Given the description of an element on the screen output the (x, y) to click on. 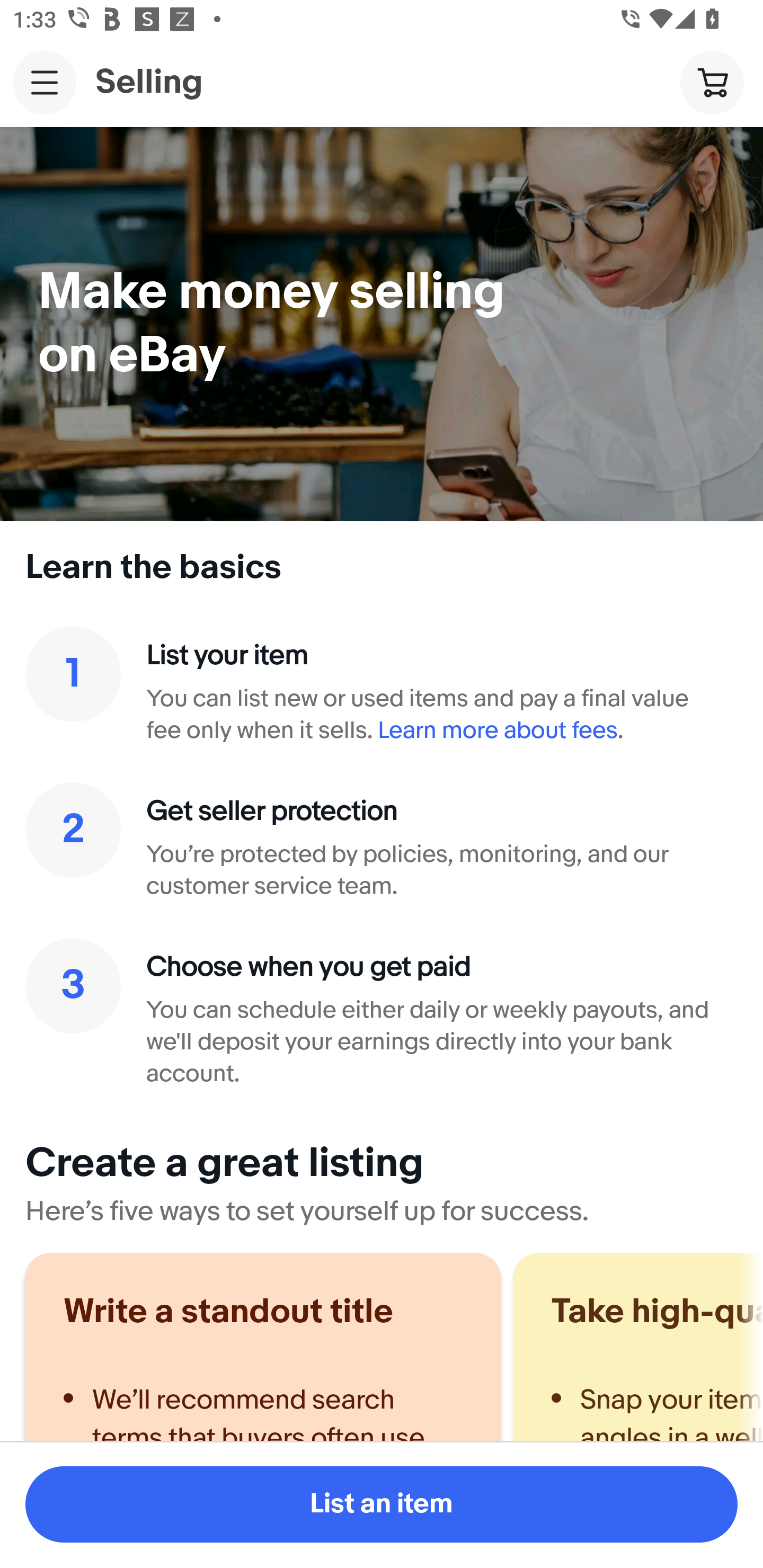
Main navigation, open (44, 82)
Cart button shopping cart (711, 81)
List an item (381, 1504)
